Given the description of an element on the screen output the (x, y) to click on. 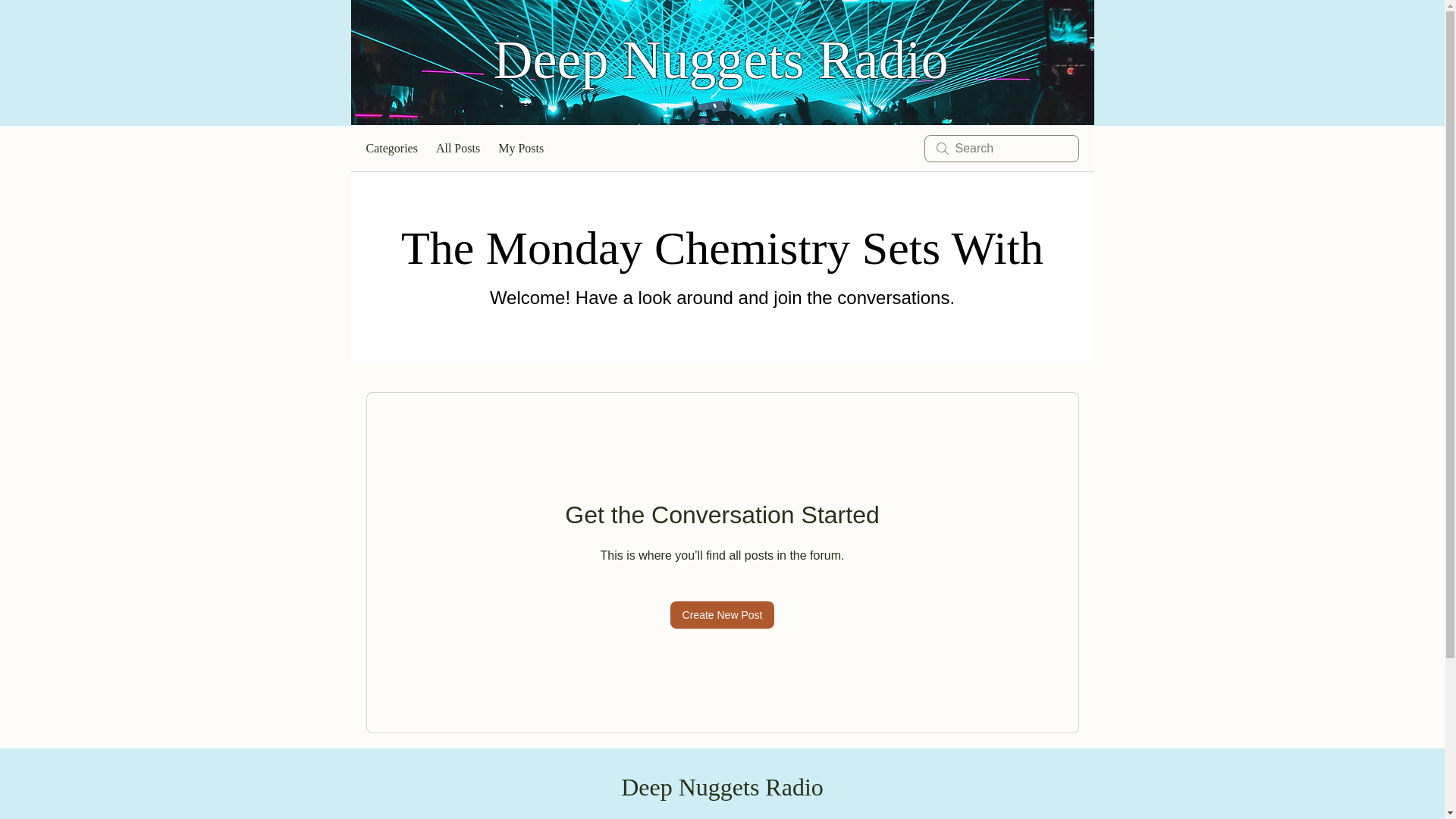
Create New Post (721, 614)
Categories (390, 148)
My Posts (520, 148)
All Posts (457, 148)
